Given the description of an element on the screen output the (x, y) to click on. 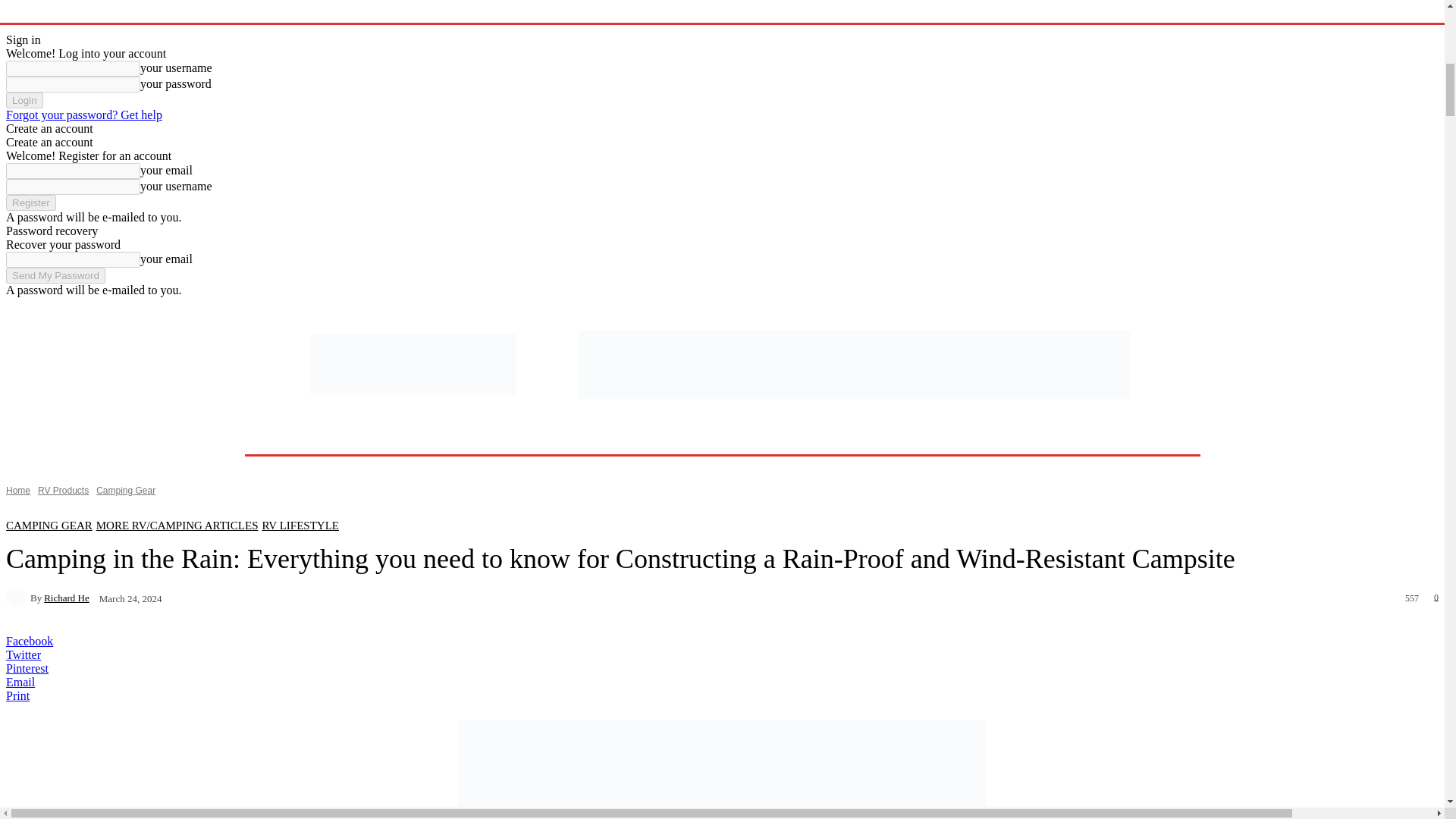
Send My Password (54, 275)
RV Travel Life News and Information (412, 363)
Register (30, 202)
RV Lifestyle Information Blog (722, 11)
RV Lifestyle Information Blog (721, 11)
RV Travel Life News and Information (413, 363)
Login (24, 100)
